Given the description of an element on the screen output the (x, y) to click on. 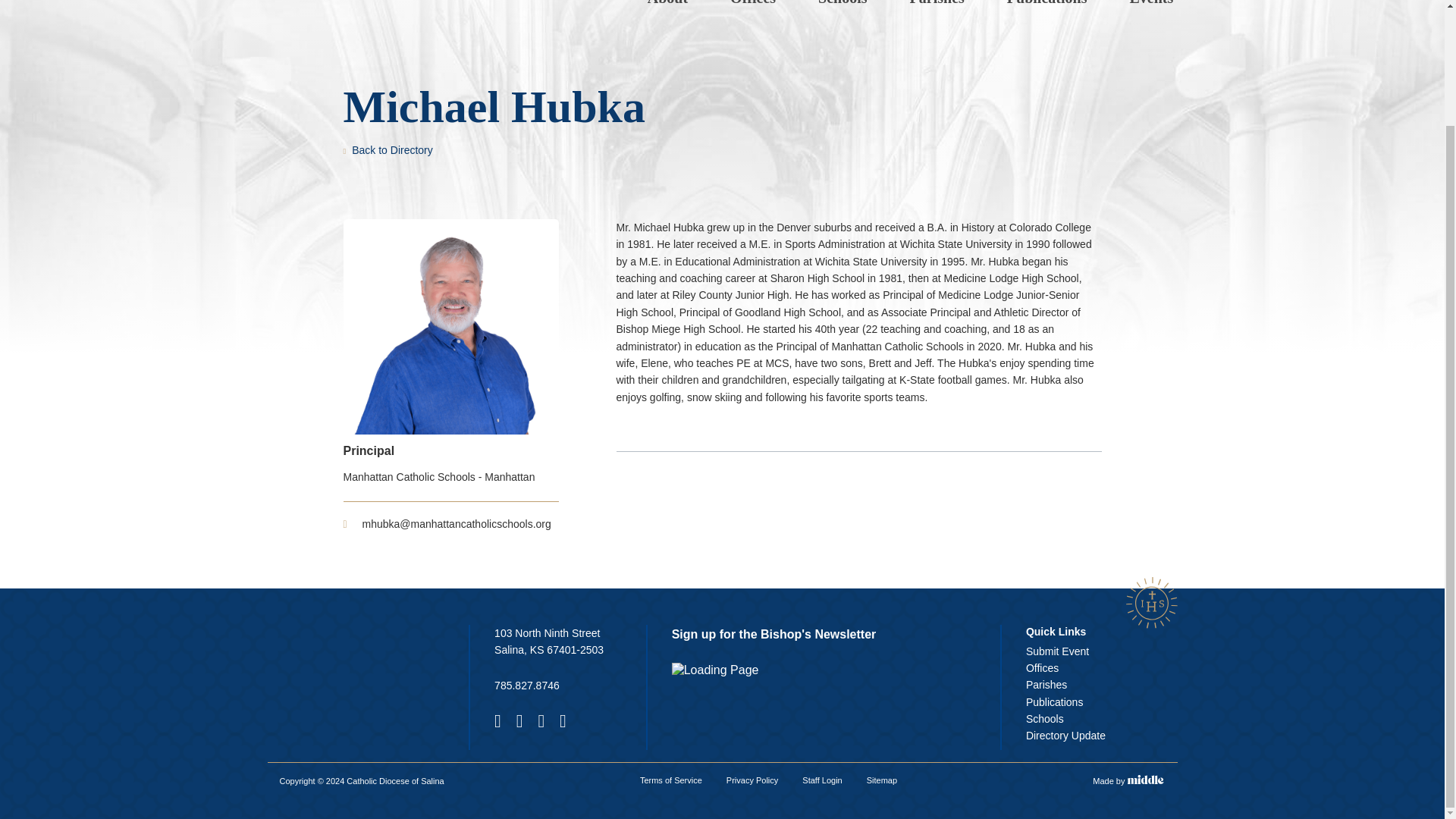
About (667, 3)
Group 53 Copy Created with Sketch. (1150, 602)
Offices (752, 3)
